Given the description of an element on the screen output the (x, y) to click on. 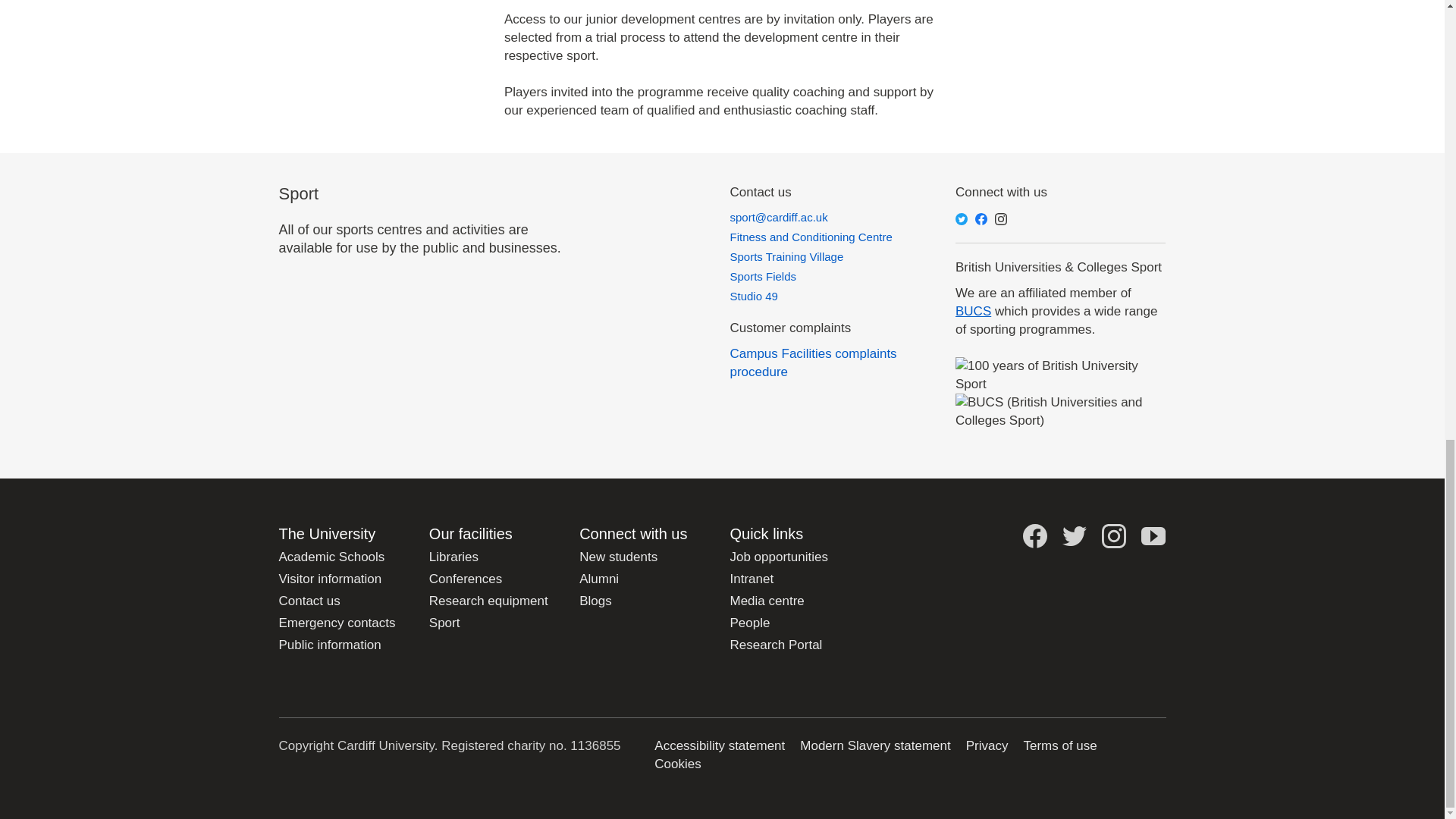
instagram (1000, 218)
instagram (1113, 535)
Twitter (961, 218)
facebook (981, 218)
twitter no background icon (1074, 535)
Youtube (1153, 535)
facebook (1034, 535)
